Given the description of an element on the screen output the (x, y) to click on. 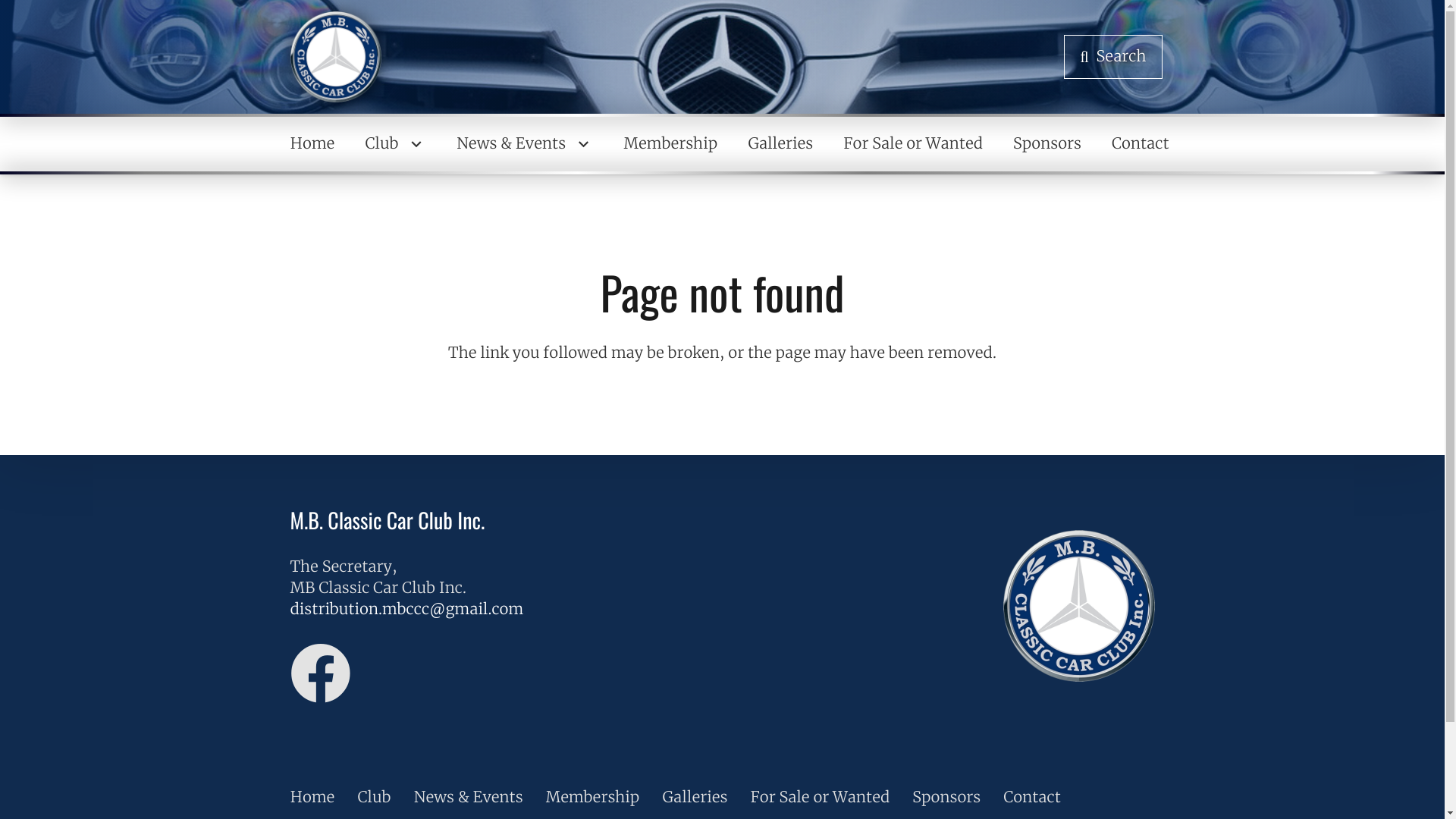
distribution.mbccc@gmail.com Element type: text (406, 608)
Sponsors Element type: text (946, 796)
Home Element type: text (311, 796)
Facebook Element type: hover (319, 673)
Club Element type: text (395, 143)
News & Events Element type: text (524, 143)
For Sale or Wanted Element type: text (819, 796)
News & Events Element type: text (468, 796)
For Sale or Wanted Element type: text (912, 143)
Sponsors Element type: text (1046, 143)
Contact Element type: text (1140, 143)
Club Element type: text (373, 796)
Galleries Element type: text (694, 796)
Membership Element type: text (593, 796)
Contact Element type: text (1031, 796)
Membership Element type: text (670, 143)
Home Element type: text (311, 143)
Galleries Element type: text (780, 143)
